Given the description of an element on the screen output the (x, y) to click on. 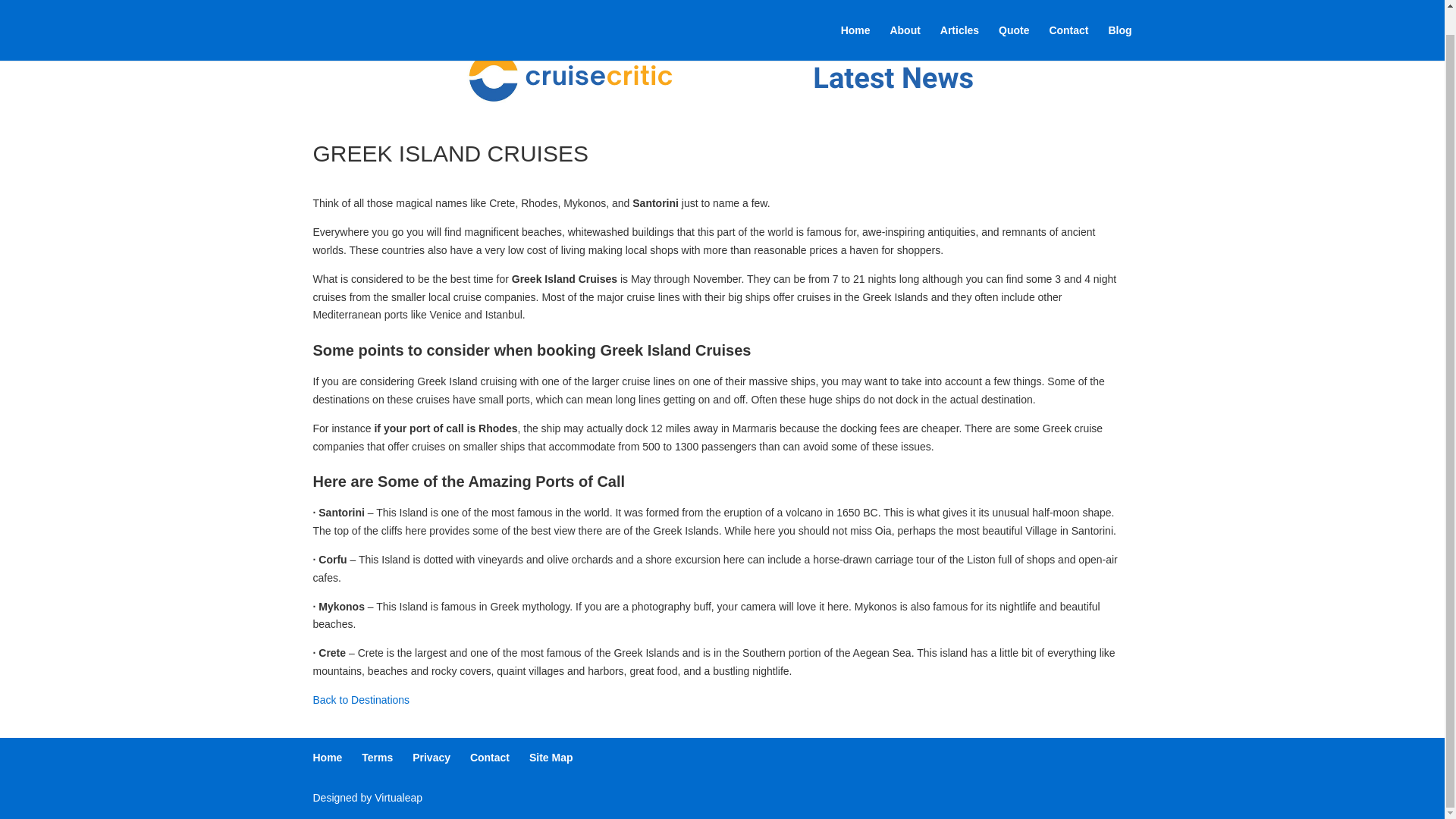
Virtualeap (398, 797)
Terms (377, 757)
Articles (959, 18)
Contact (489, 757)
Site Map (551, 757)
Home (327, 757)
Privacy (430, 757)
Contact (1067, 18)
Back to Destinations (361, 699)
